Given the description of an element on the screen output the (x, y) to click on. 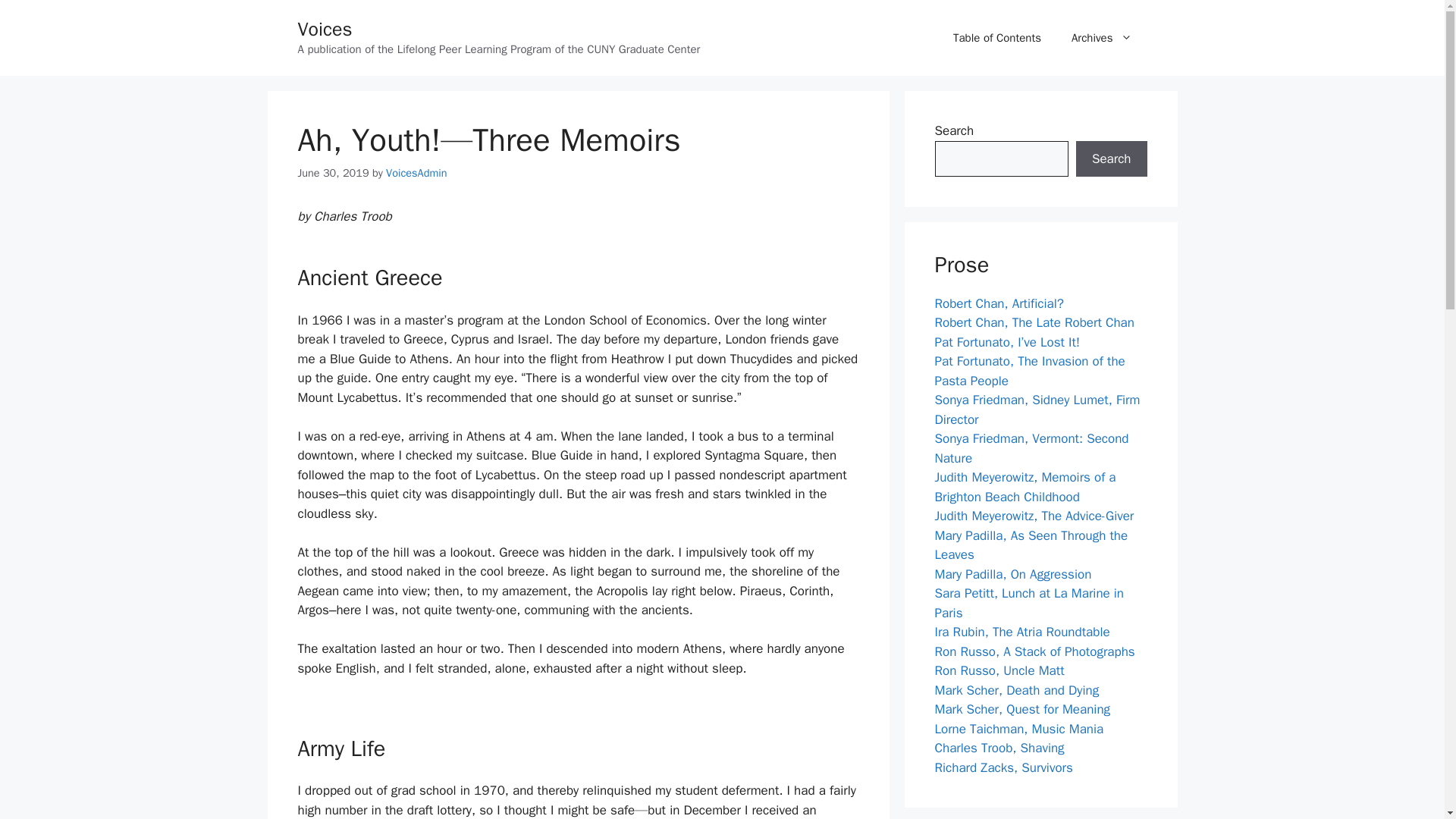
Ron Russo, Uncle Matt (999, 670)
Robert Chan, Artificial? (998, 303)
Mary Padilla, As Seen Through the Leaves (1030, 545)
Mark Scher, Death and Dying (1016, 690)
As Seen Through the Leaves (1030, 545)
Judith Meyerowitz, Memoirs of a Brighton Beach Childhood (1024, 487)
VoicesAdmin (415, 172)
Mark Scher, Quest for Meaning (1021, 709)
Lunch at Le Marine in Paris (1029, 602)
The Atria Roundtable (1021, 631)
Ron Russo, A Stack of Photographs (1034, 651)
Sara Petitt, Lunch at La Marine in Paris (1029, 602)
On Aggression (1012, 574)
The Late Robert Chan (1034, 322)
Vermont: Second Nature (1031, 448)
